Given the description of an element on the screen output the (x, y) to click on. 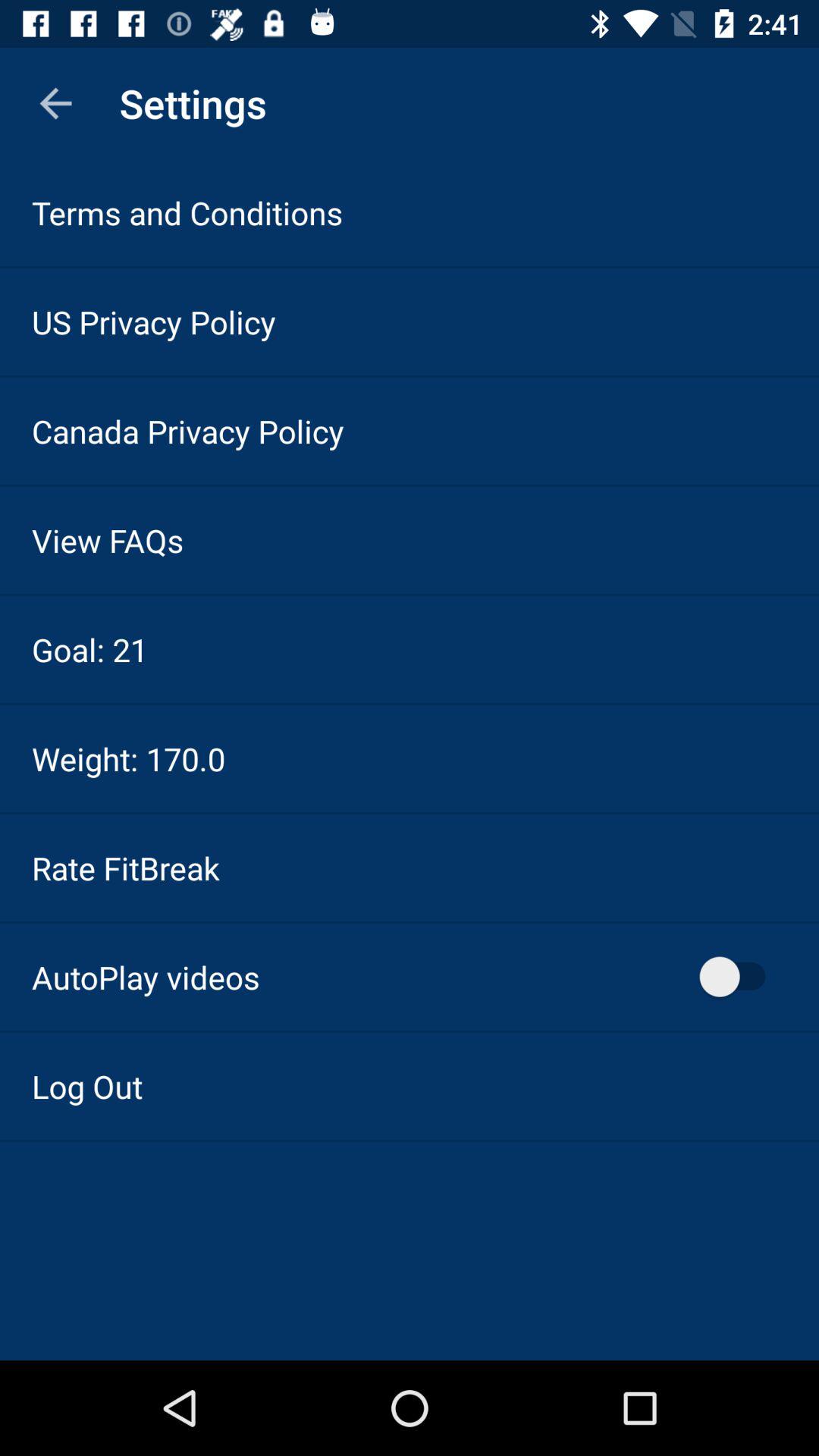
launch icon next to the settings app (55, 103)
